Given the description of an element on the screen output the (x, y) to click on. 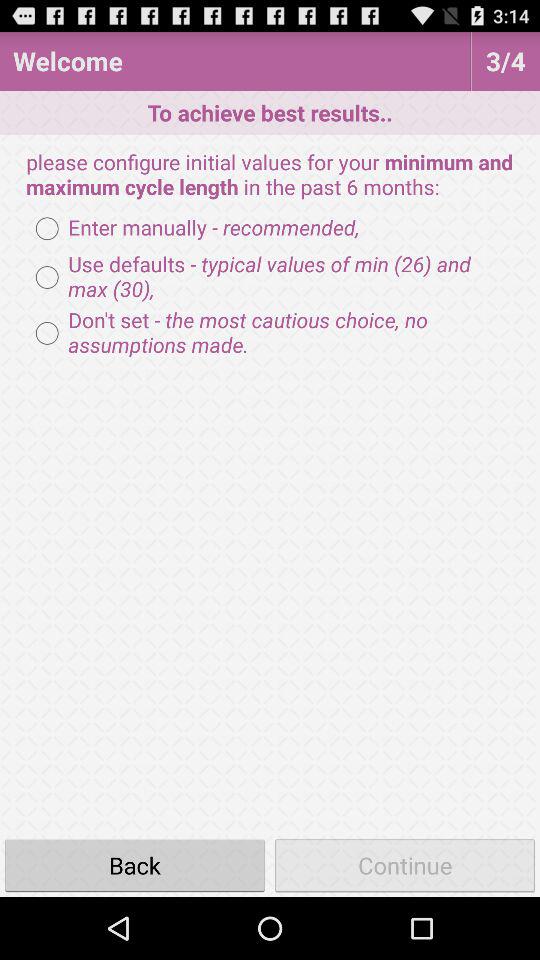
open the item above the use defaults typical (192, 228)
